Given the description of an element on the screen output the (x, y) to click on. 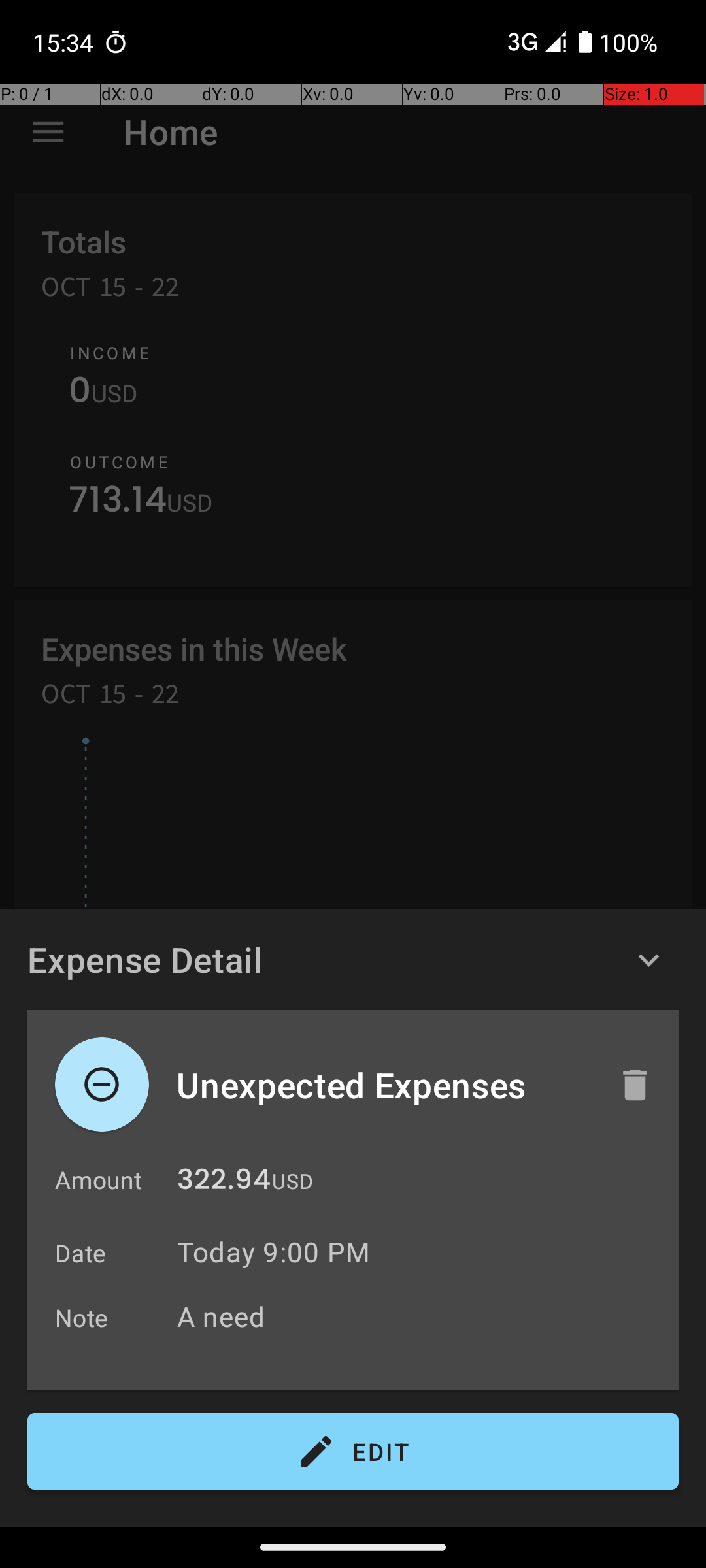
Unexpected Expenses Element type: android.widget.TextView (383, 1084)
322.94 Element type: android.widget.TextView (223, 1182)
Today 9:00 PM Element type: android.widget.TextView (273, 1251)
A need Element type: android.widget.TextView (420, 1315)
